Given the description of an element on the screen output the (x, y) to click on. 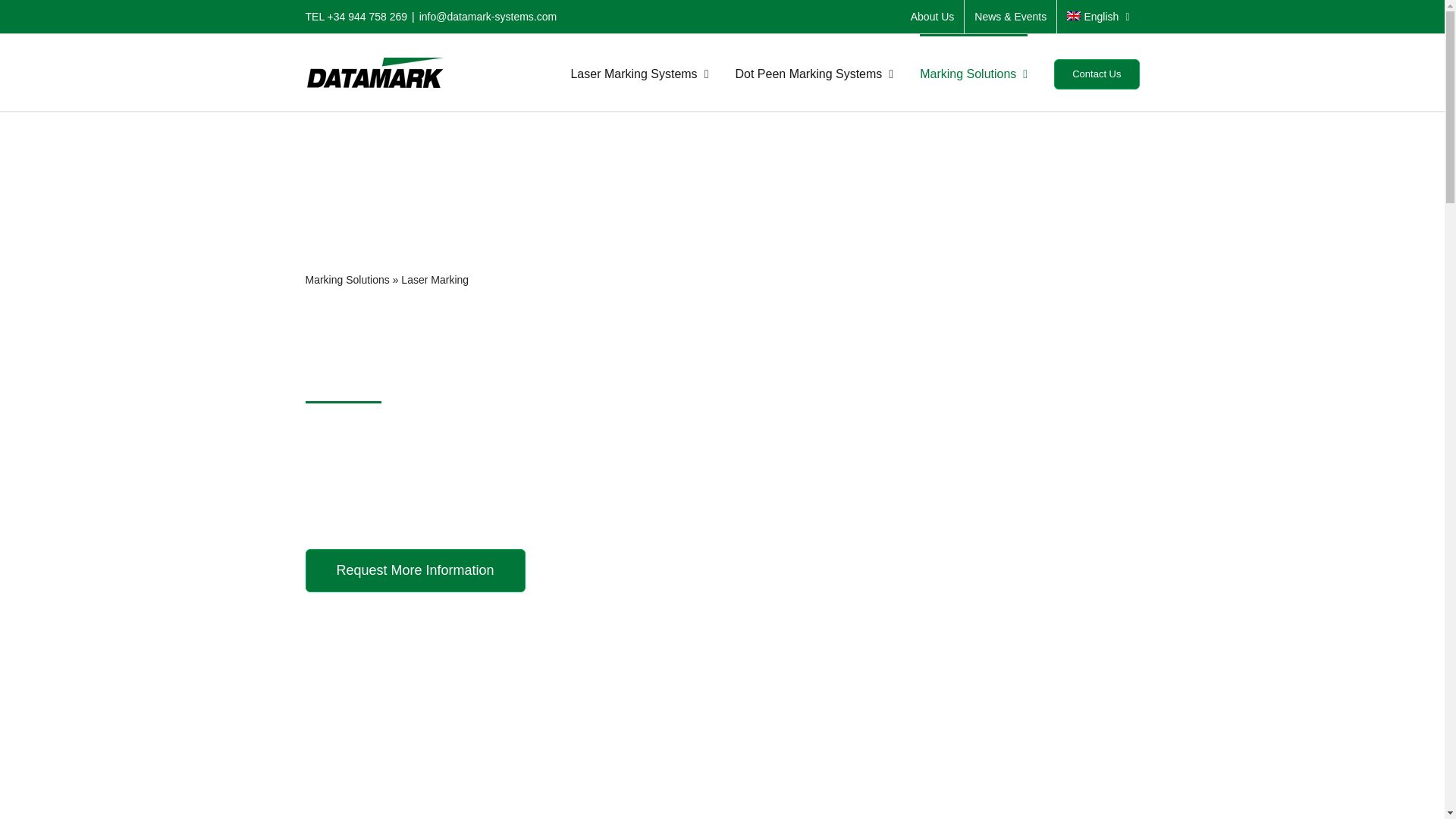
English (1097, 16)
Marking Solutions (973, 72)
Laser Marking Systems (638, 72)
About Us (932, 16)
Dot Peen Marking Systems (814, 72)
English (1097, 16)
